Given the description of an element on the screen output the (x, y) to click on. 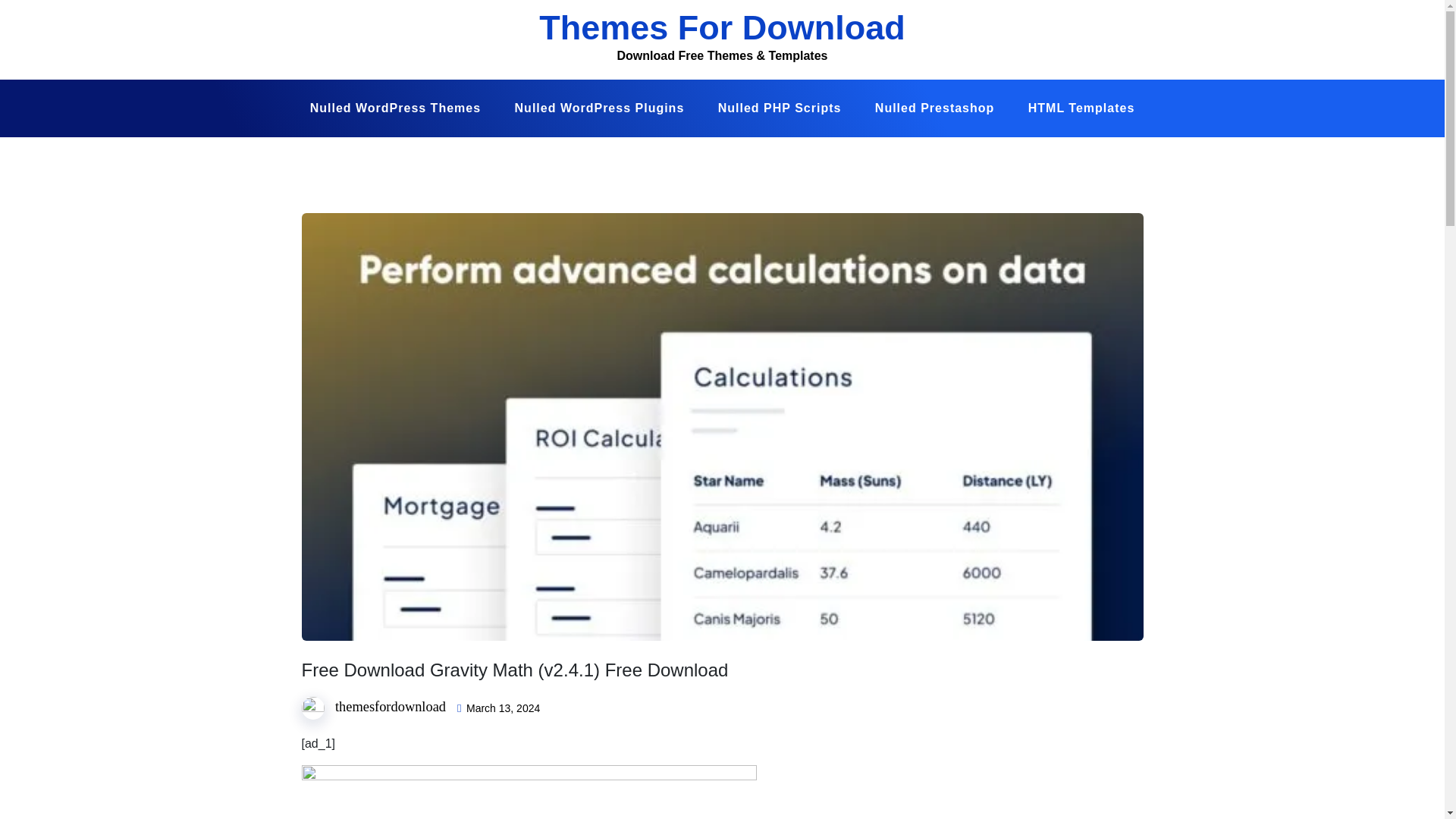
Nulled PHP Scripts (780, 107)
Nulled Prestashop (934, 107)
March 13, 2024 (502, 708)
themesfordownload (389, 706)
Themes For Download (721, 27)
Themes For Download (721, 27)
HTML Templates (1081, 107)
Gravity Math v2.4.1 (529, 791)
Nulled WordPress Themes (395, 107)
Nulled WordPress Plugins (599, 107)
